Given the description of an element on the screen output the (x, y) to click on. 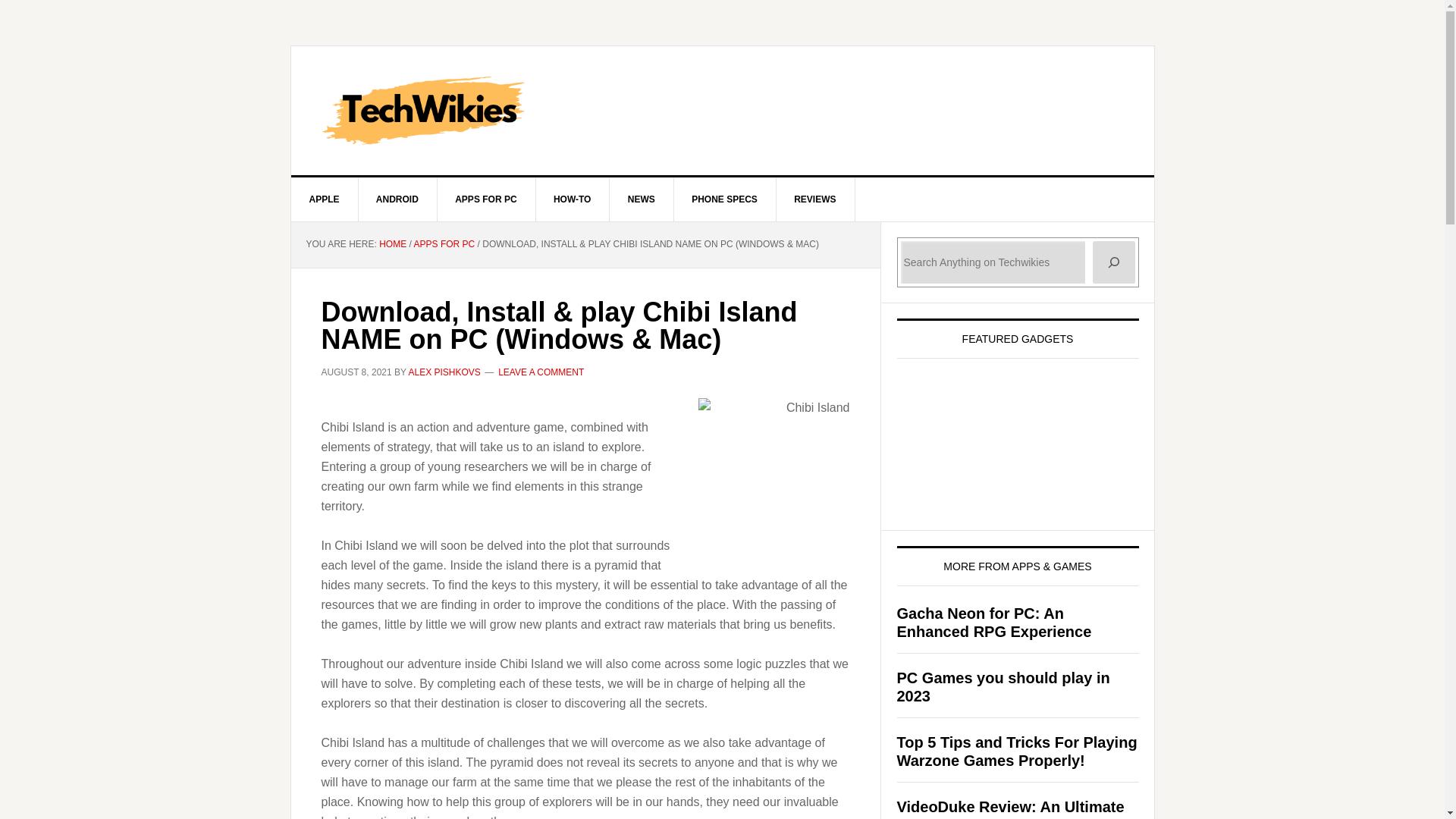
TECHWIKIES.COM (722, 110)
HOME (392, 244)
APPLE (324, 199)
APPS FOR PC (485, 199)
APPS FOR PC (444, 244)
NEWS (642, 199)
LEAVE A COMMENT (540, 371)
REVIEWS (815, 199)
ANDROID (398, 199)
ALEX PISHKOVS (443, 371)
